Given the description of an element on the screen output the (x, y) to click on. 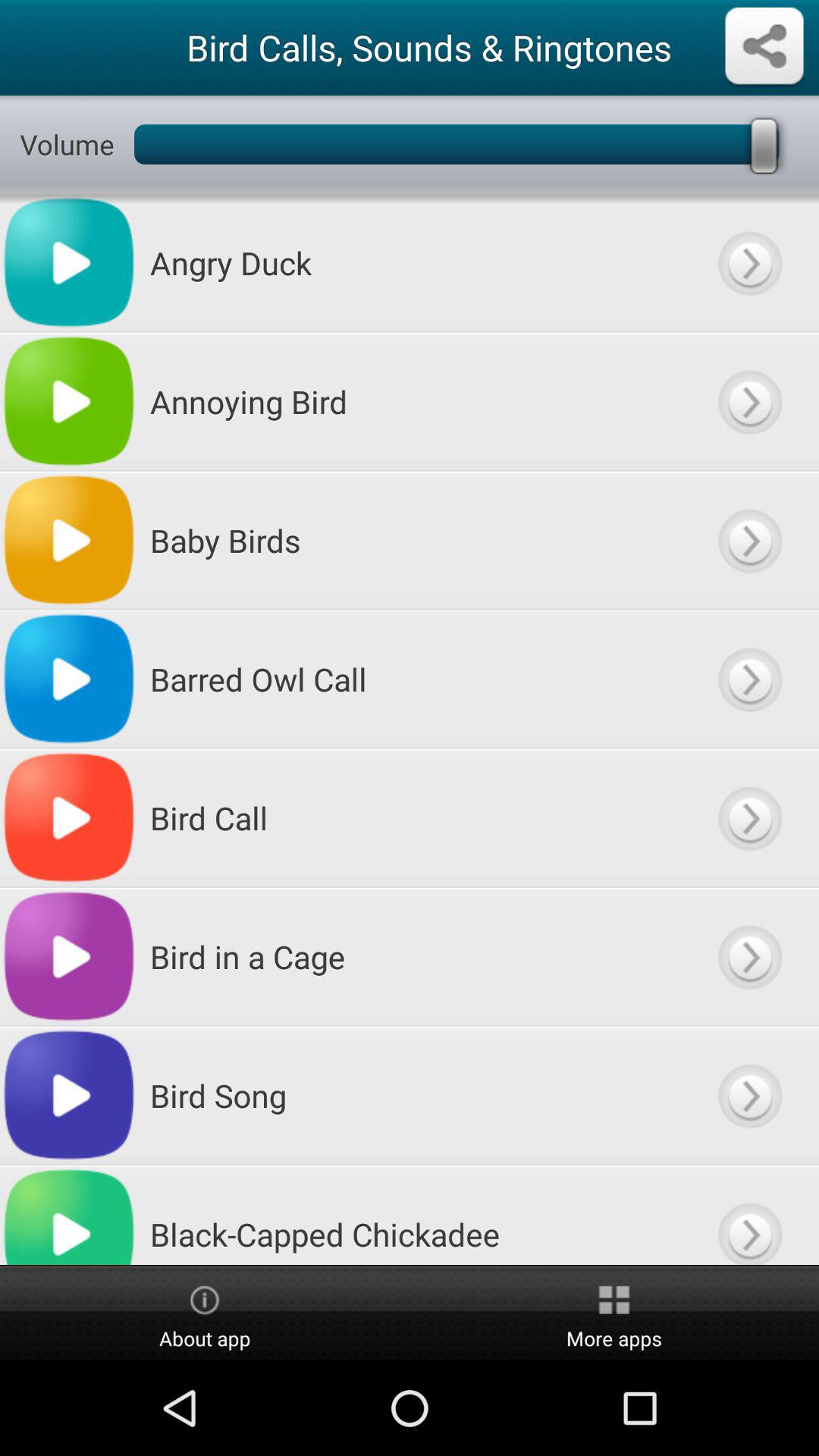
select sound or ringtone (749, 818)
